Given the description of an element on the screen output the (x, y) to click on. 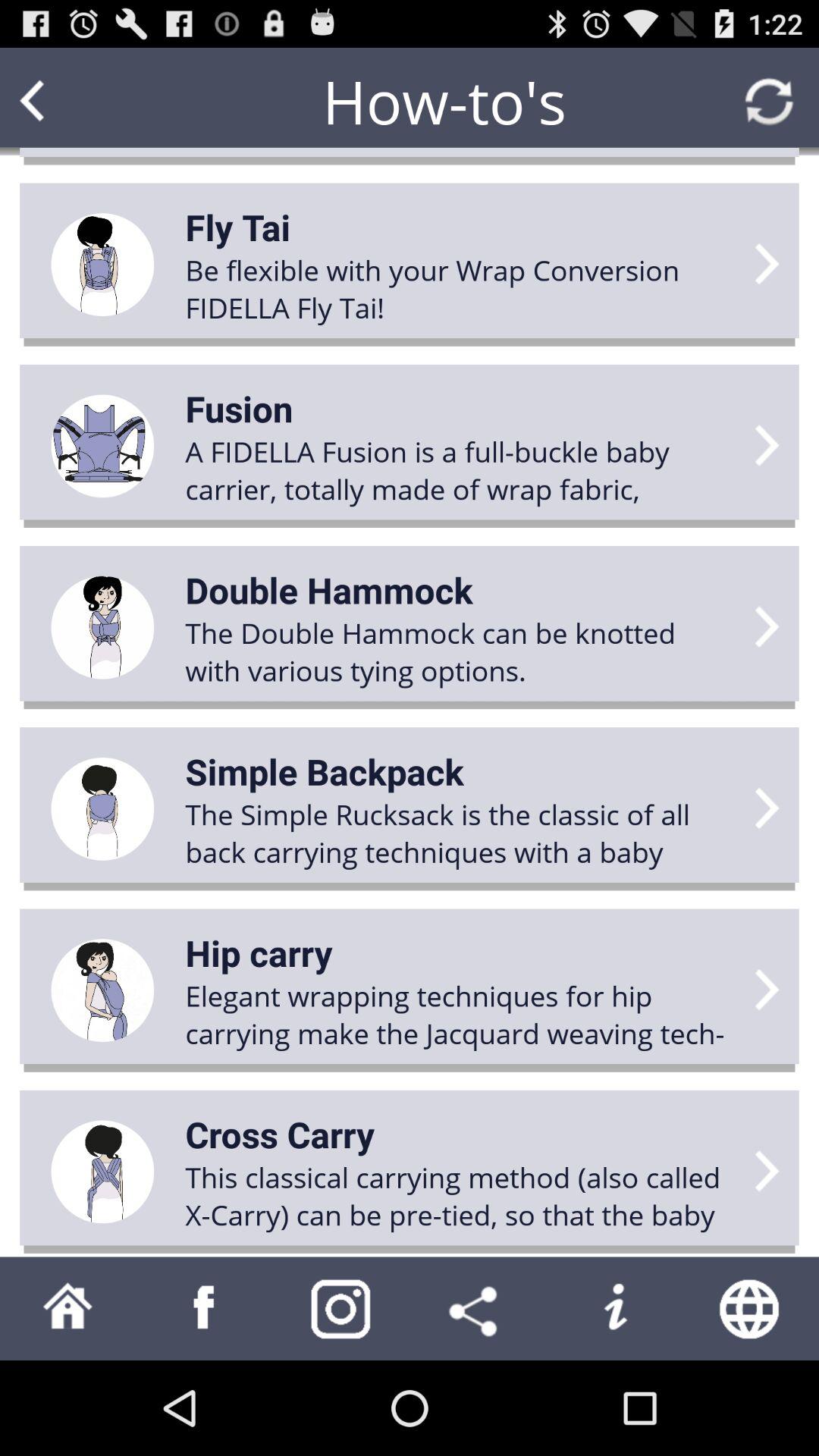
go home (68, 1308)
